Given the description of an element on the screen output the (x, y) to click on. 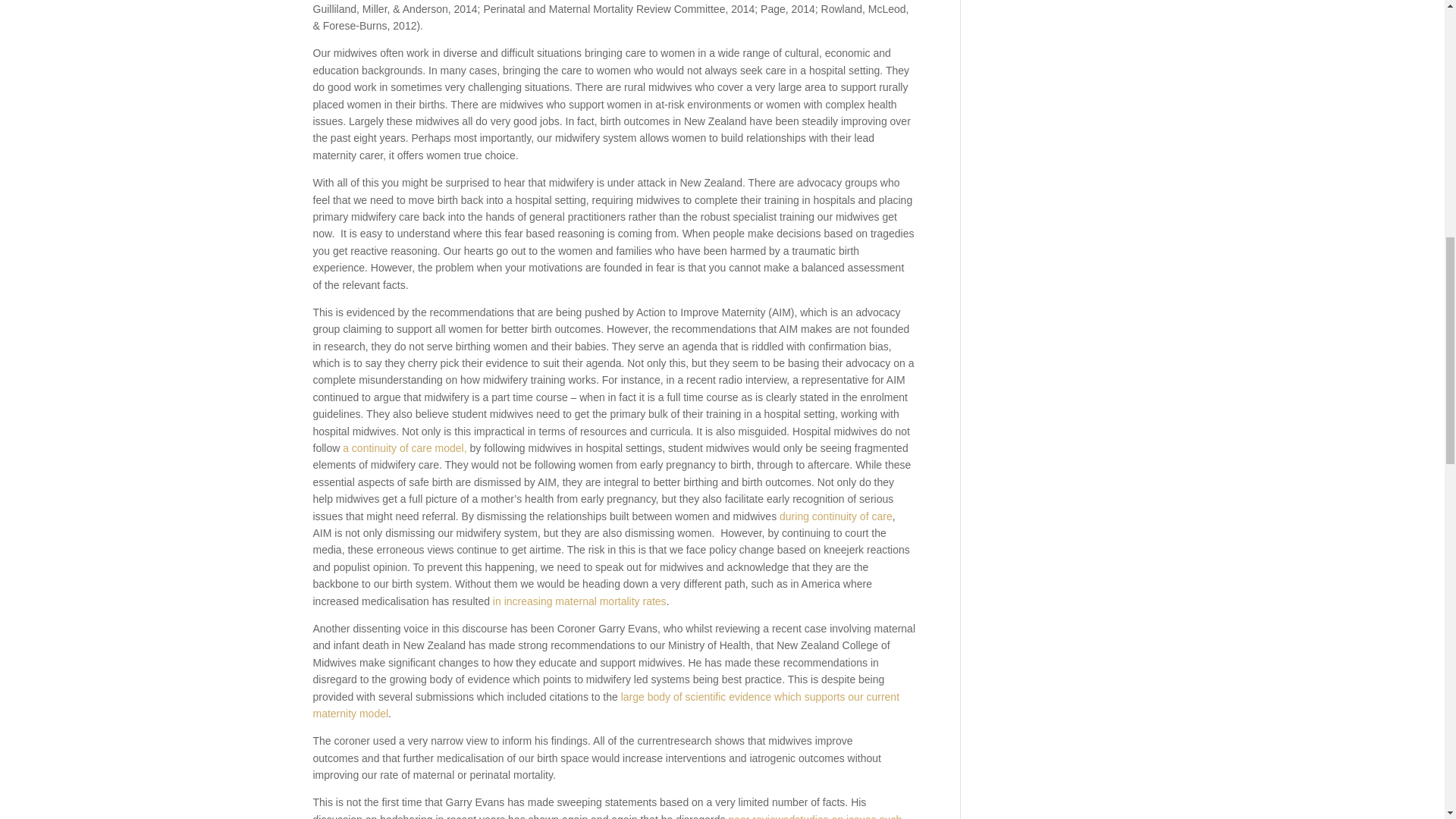
in increasing maternal mortality rates (579, 601)
a continuity of care model, (403, 448)
during continuity of care (835, 516)
